Given the description of an element on the screen output the (x, y) to click on. 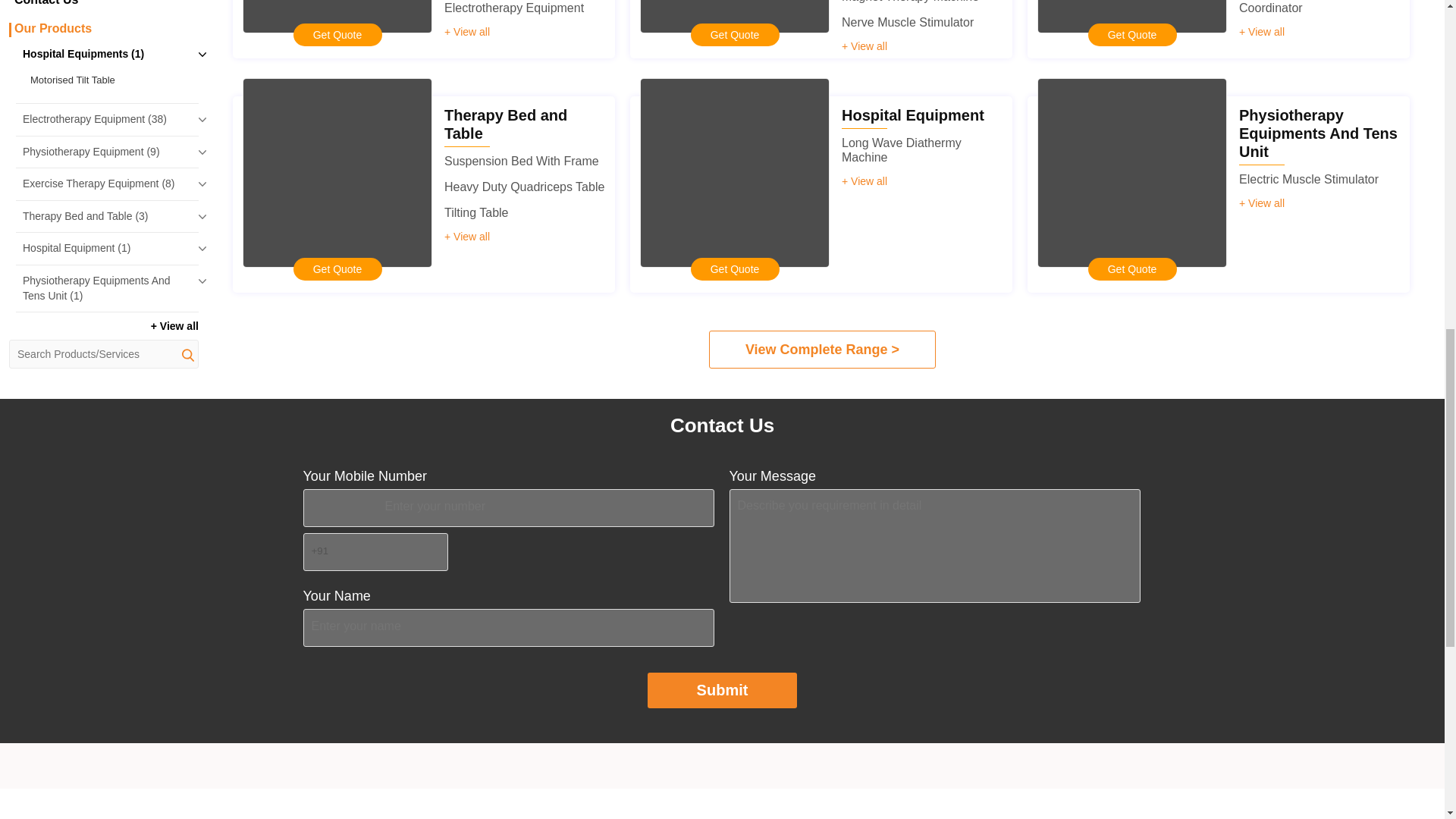
Submit (722, 690)
